Given the description of an element on the screen output the (x, y) to click on. 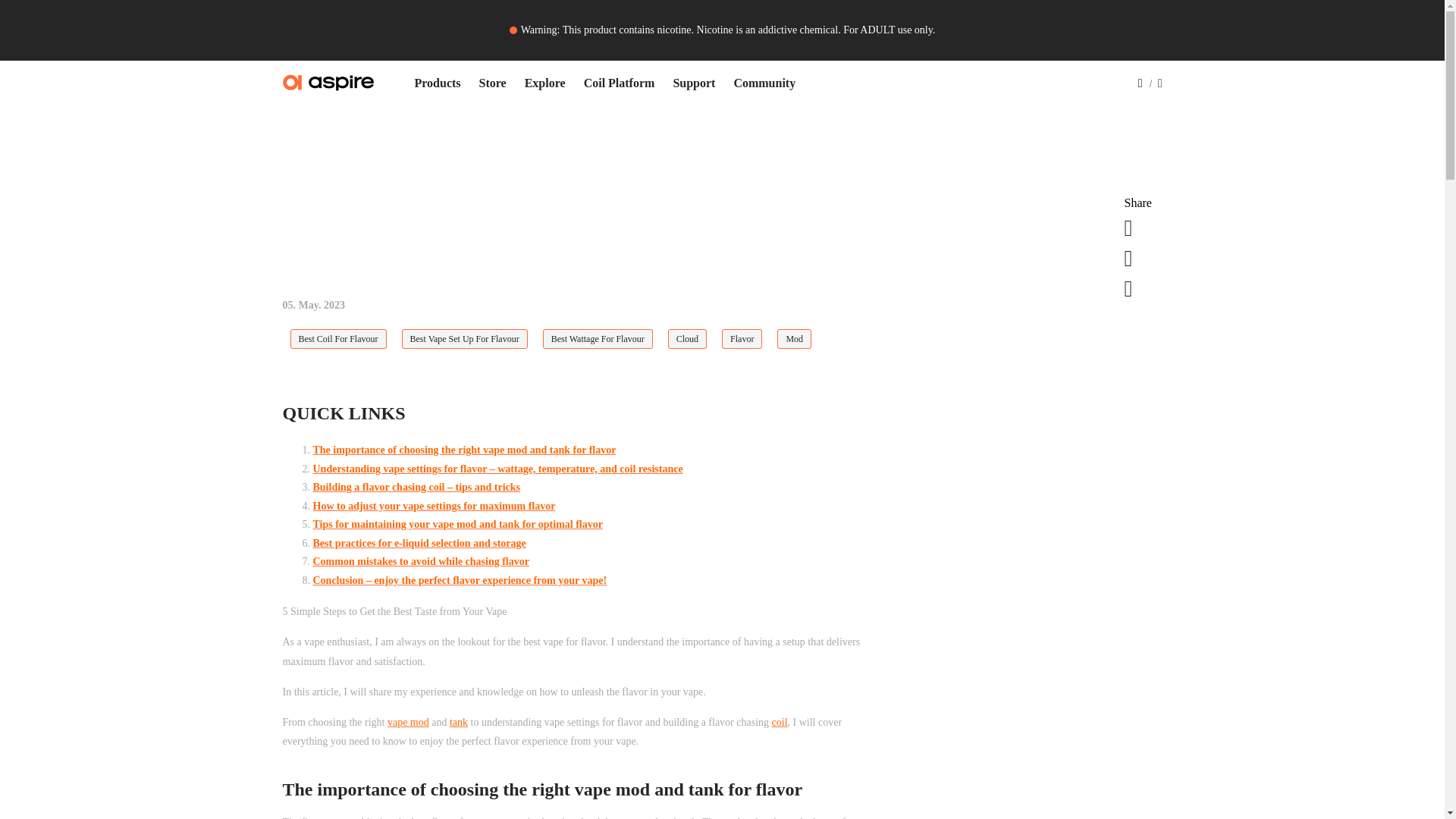
Store (492, 82)
Coil Platform (619, 82)
Products (436, 82)
Explore (545, 82)
